Given the description of an element on the screen output the (x, y) to click on. 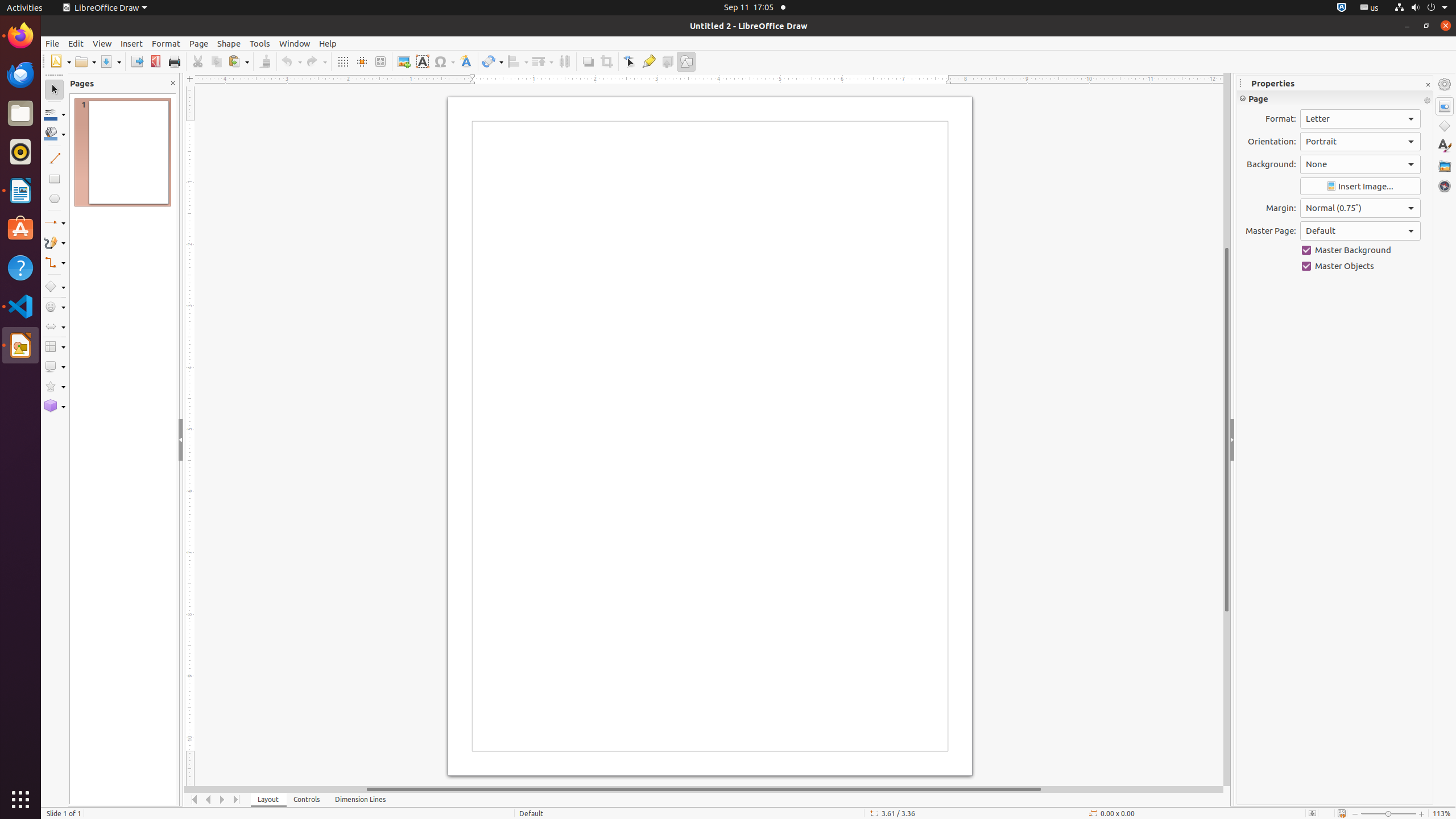
Basic Shapes Element type: push-button (54, 286)
Curves and Polygons Element type: push-button (54, 242)
Distribution Element type: push-button (564, 61)
Insert Image Element type: push-button (1360, 186)
Ubuntu Software Element type: push-button (20, 229)
